Given the description of an element on the screen output the (x, y) to click on. 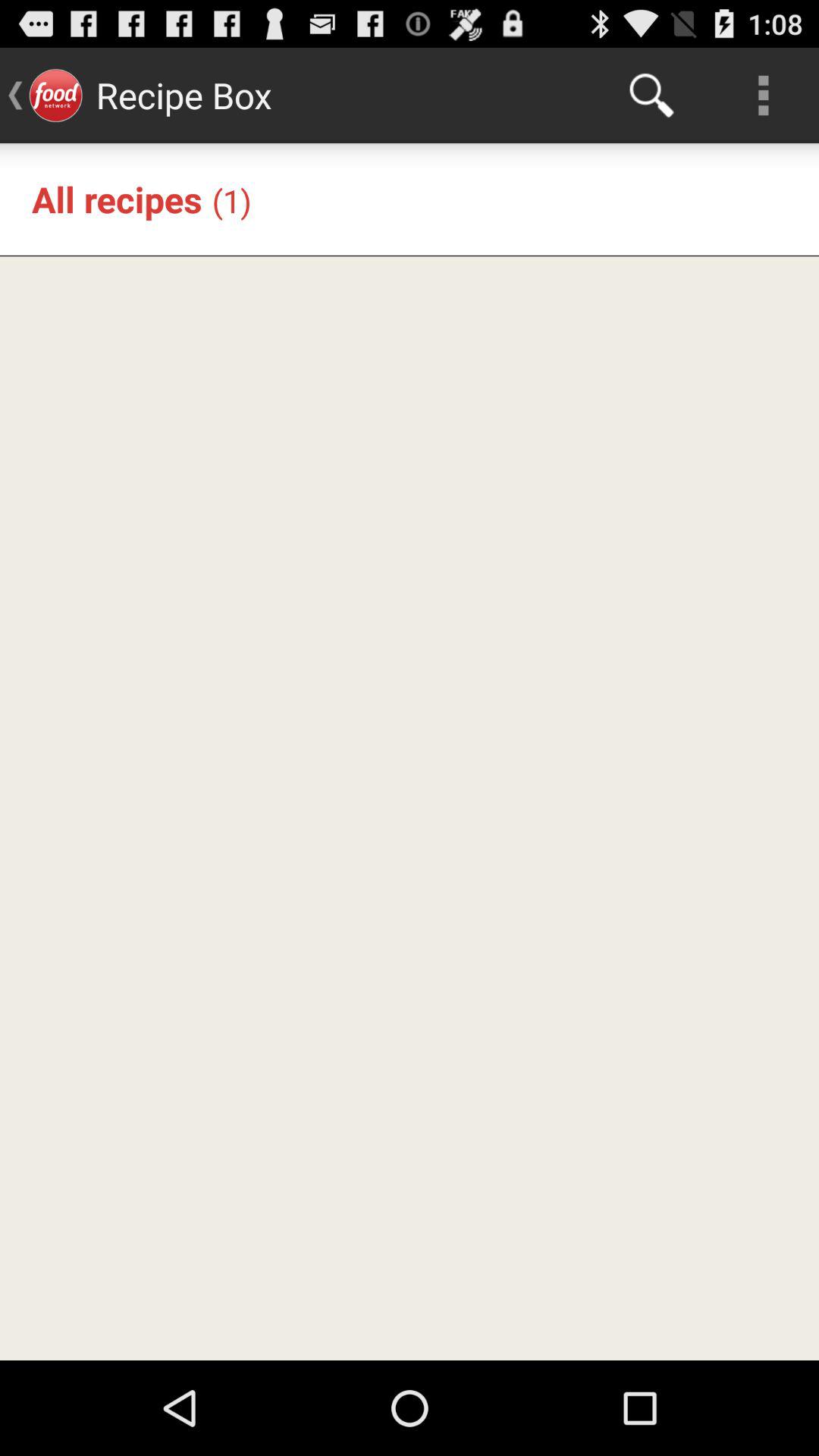
turn on icon next to recipe box item (651, 95)
